Given the description of an element on the screen output the (x, y) to click on. 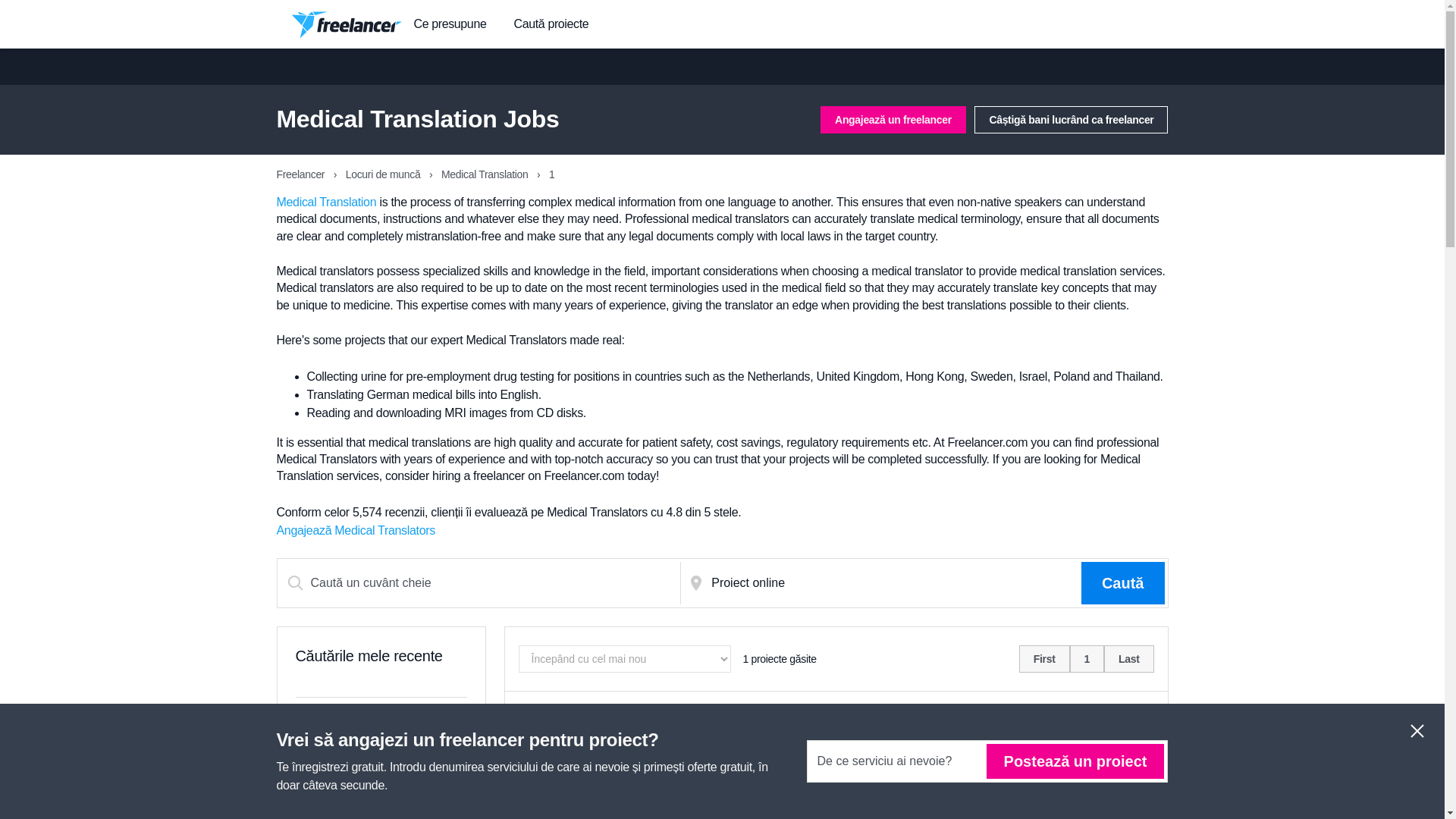
Proiect online (892, 582)
Medical (539, 800)
1 (1086, 658)
Medical Translation (325, 201)
Specialty Practice Medical Coding Experts (640, 717)
First (1044, 658)
Last (1128, 658)
Medical Translation (486, 174)
Freelancer (301, 174)
Medical Translation (609, 800)
